Given the description of an element on the screen output the (x, y) to click on. 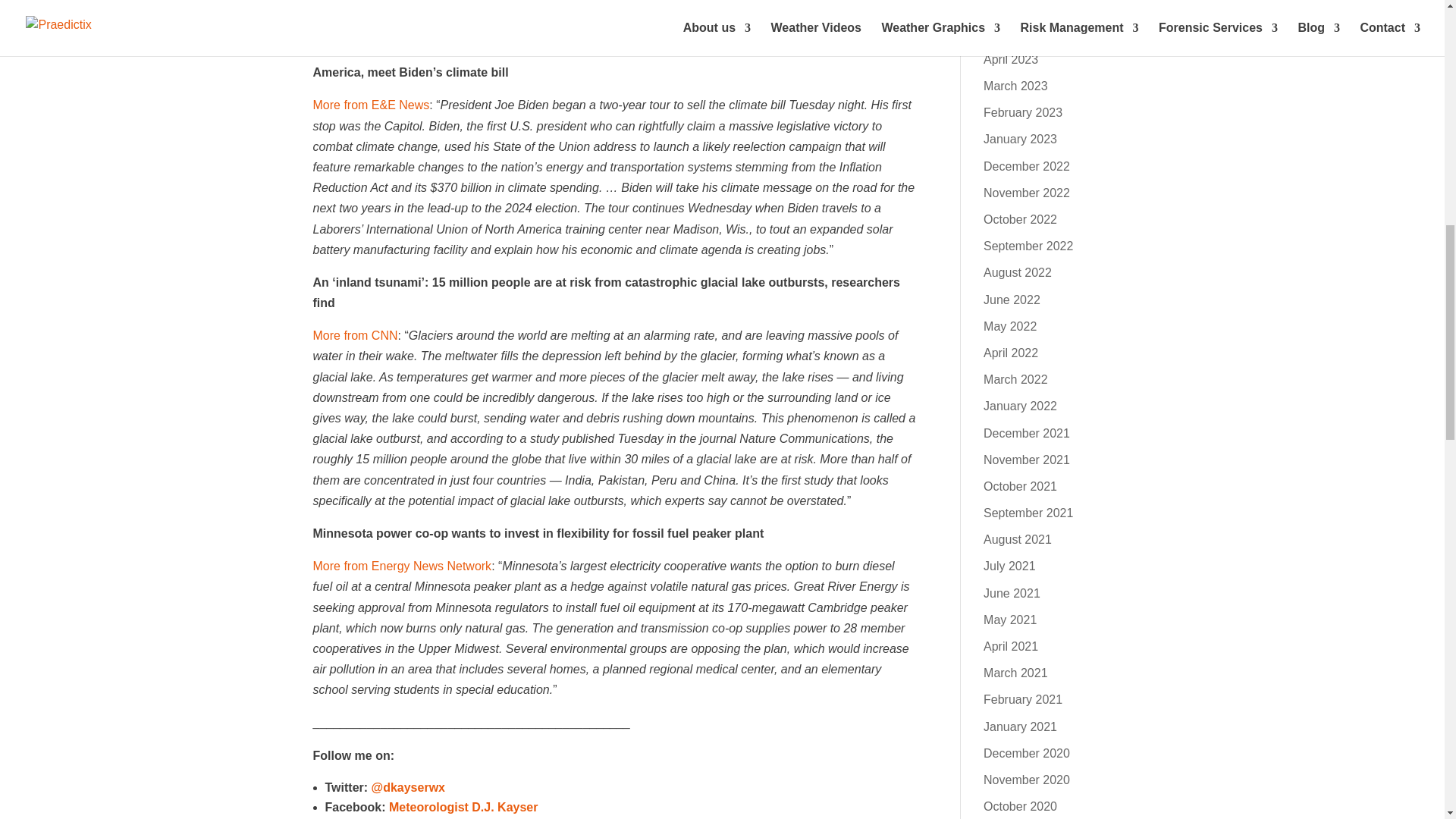
Meteorologist D.J. Kayser (463, 807)
More from CNN (355, 335)
More from Energy News Network (402, 565)
